Given the description of an element on the screen output the (x, y) to click on. 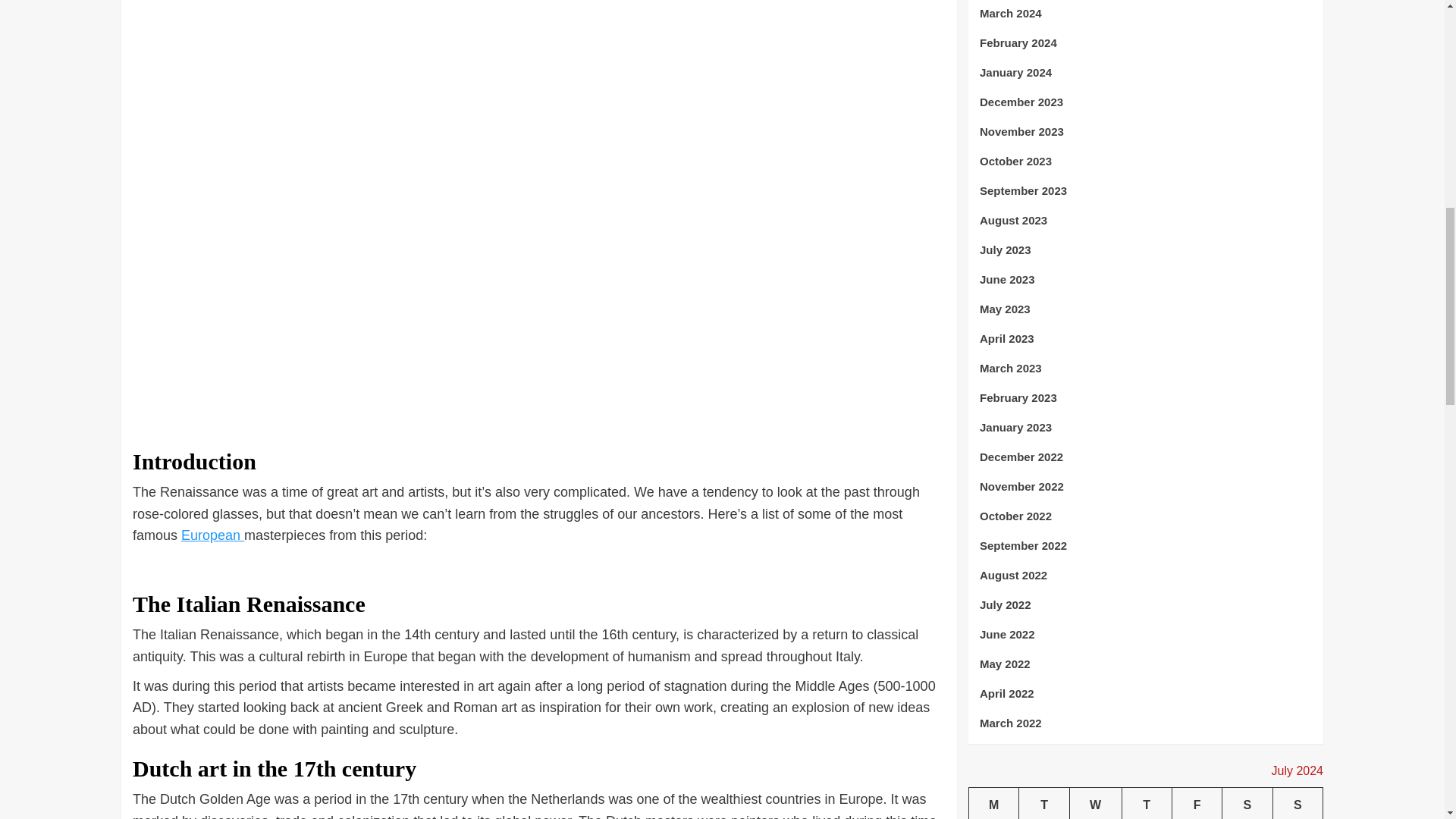
Thursday (1146, 316)
Saturday (1247, 316)
European (212, 534)
Tuesday (1043, 316)
Wednesday (1094, 316)
Monday (994, 316)
Sunday (1297, 316)
Friday (1196, 316)
